Given the description of an element on the screen output the (x, y) to click on. 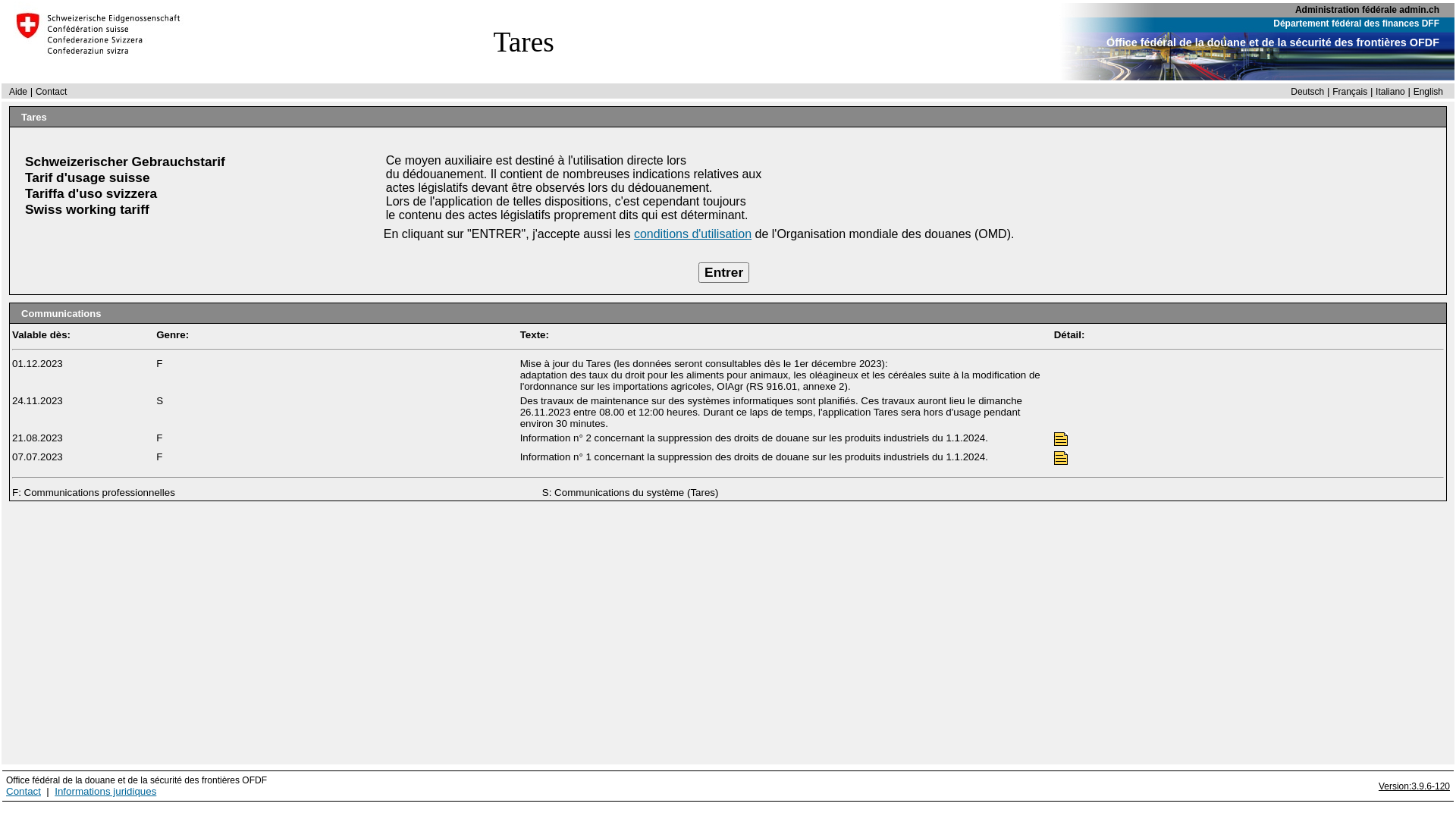
Tares Element type: text (523, 40)
Contact Element type: text (23, 791)
Deutsch Element type: text (1307, 91)
Aide Element type: text (18, 91)
Contact Element type: text (50, 91)
Informations juridiques Element type: text (105, 791)
Entrer Element type: text (723, 272)
Ouvrir document de communication Element type: hover (1060, 438)
Italiano Element type: text (1390, 91)
Version:3.9.6-120 Element type: text (1413, 786)
Ouvrir document de communication Element type: hover (1060, 457)
English Element type: text (1428, 91)
conditions d'utilisation Element type: text (692, 233)
